Given the description of an element on the screen output the (x, y) to click on. 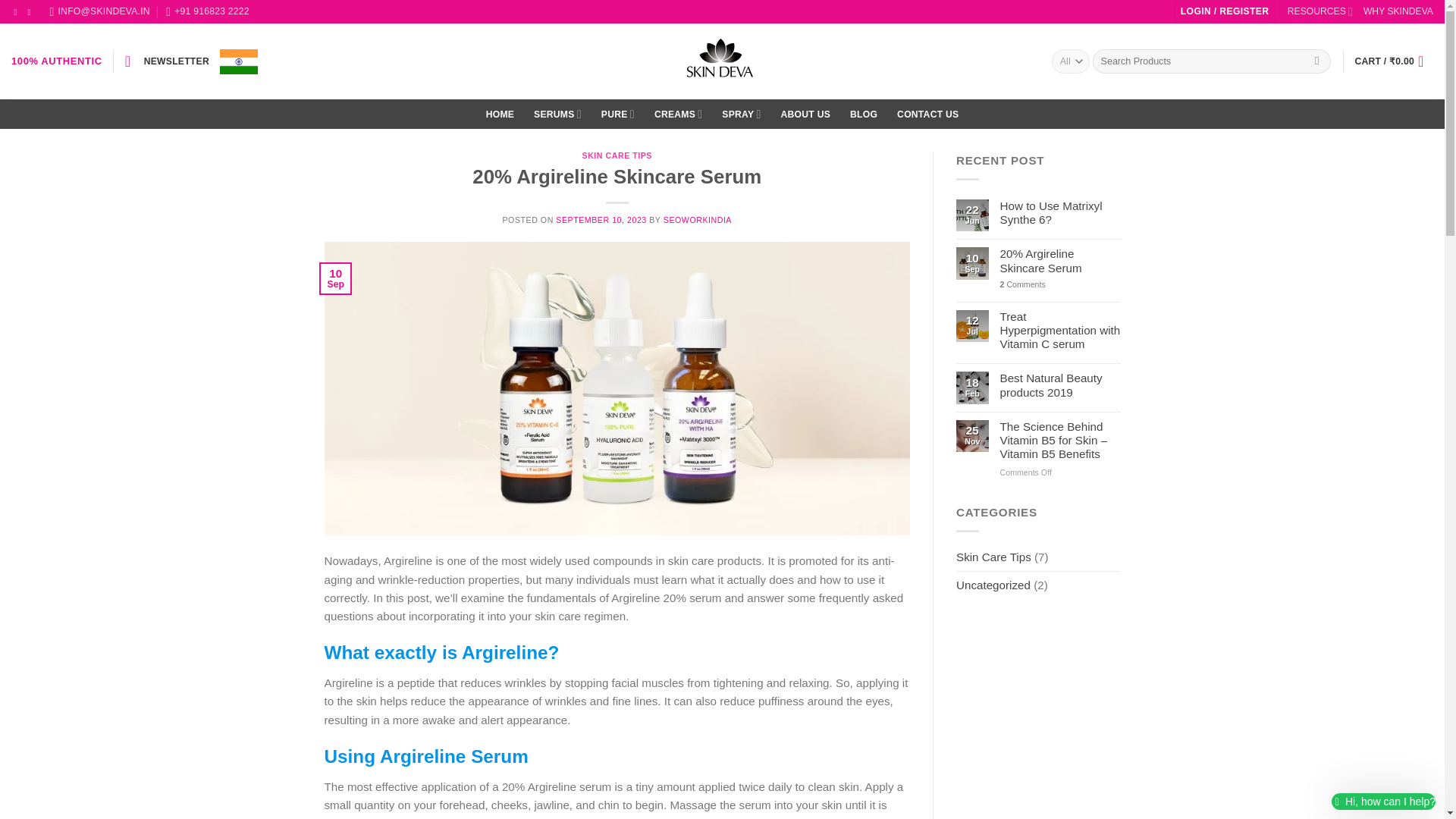
Sign up for Newsletter (167, 61)
Login (1224, 11)
Cart (1393, 61)
RESOURCES (1319, 11)
Follow on Instagram (31, 11)
WHY SKINDEVA (1397, 11)
NEWSLETTER (167, 61)
Follow on Facebook (17, 11)
Search (1315, 61)
